Given the description of an element on the screen output the (x, y) to click on. 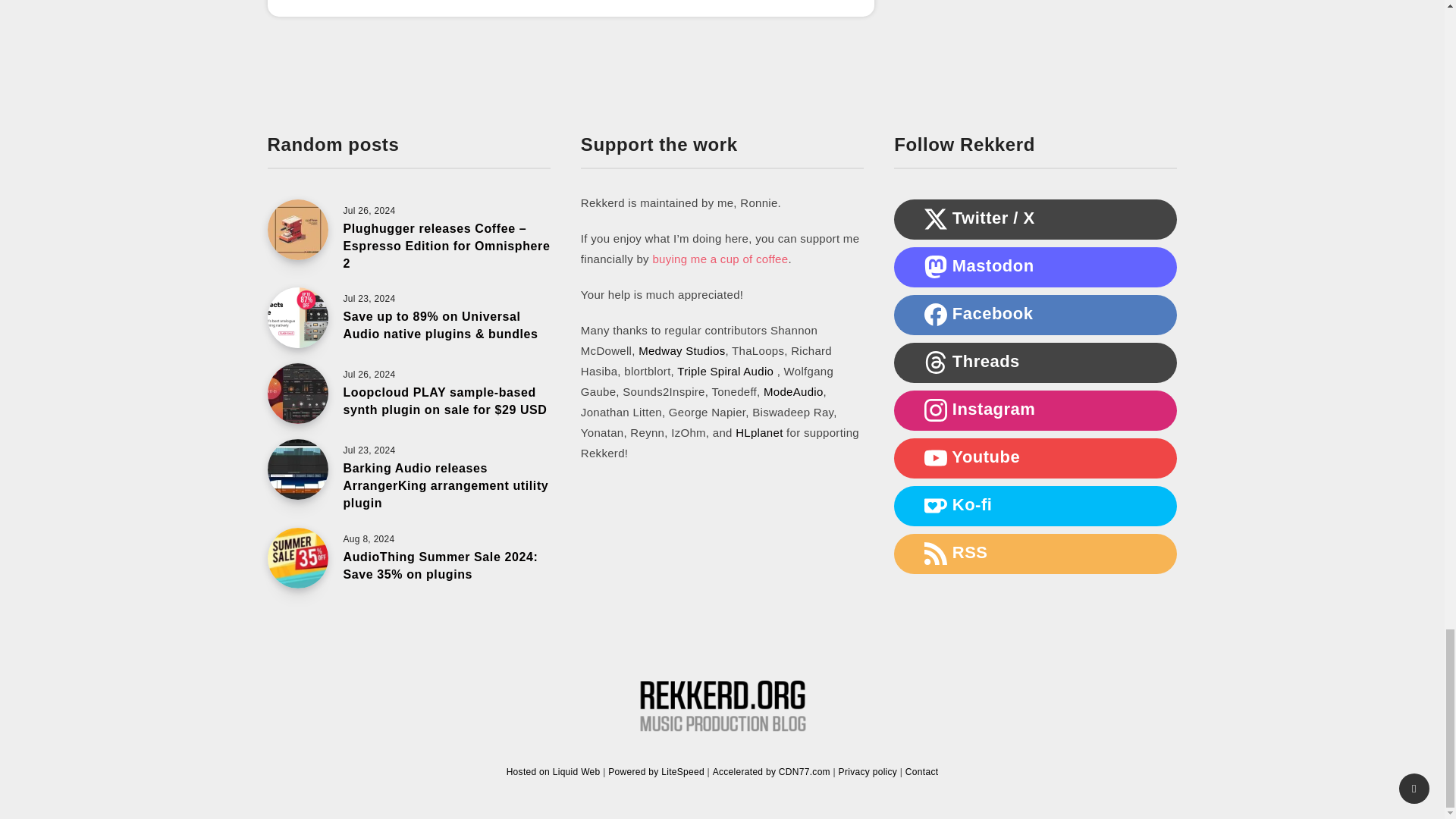
Threads (935, 362)
YouTube (935, 457)
Instagram (935, 409)
X (935, 219)
RSS (935, 553)
Ko-fi (935, 505)
Facebook (935, 314)
Mastodon (935, 266)
